Given the description of an element on the screen output the (x, y) to click on. 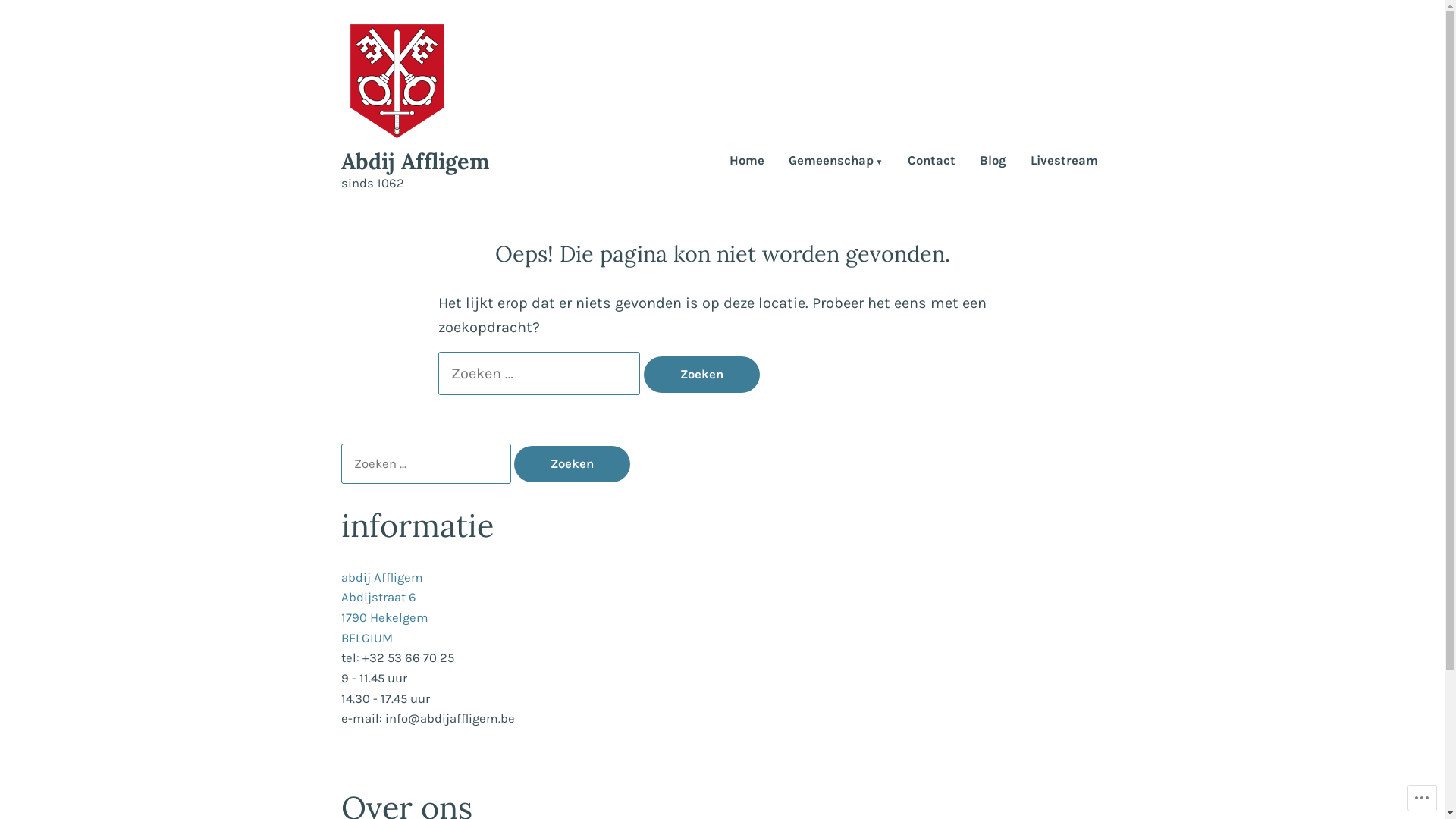
Home Element type: text (746, 161)
abdij Affligem
Abdijstraat 6
1790 Hekelgem
BELGIUM Element type: text (384, 607)
Zoeken Element type: text (572, 464)
Blog Element type: text (992, 161)
Gemeenschap Element type: text (835, 161)
Abdij Affligem Element type: text (415, 161)
Zoeken Element type: text (701, 374)
Livestream Element type: text (1063, 161)
Contact Element type: text (930, 161)
